Given the description of an element on the screen output the (x, y) to click on. 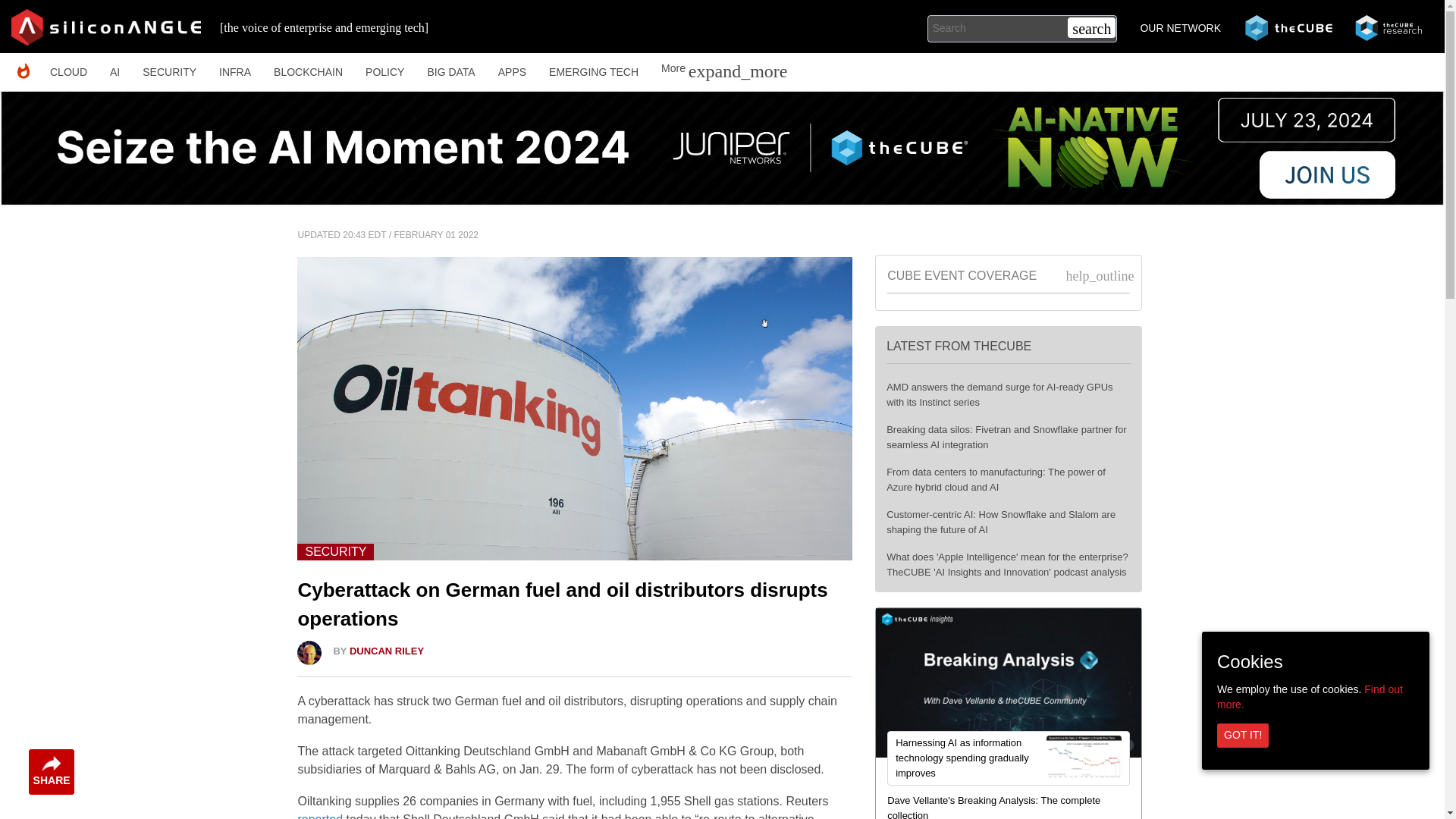
Apps (511, 71)
Security (169, 71)
Cloud (69, 71)
SHARE (51, 771)
Policy (383, 71)
APPS (511, 71)
search (1091, 27)
Infra (235, 71)
POLICY (383, 71)
Emerging Tech (593, 71)
Home (27, 70)
BLOCKCHAIN (307, 71)
INFRA (235, 71)
SECURITY (169, 71)
Blockchain (307, 71)
